Given the description of an element on the screen output the (x, y) to click on. 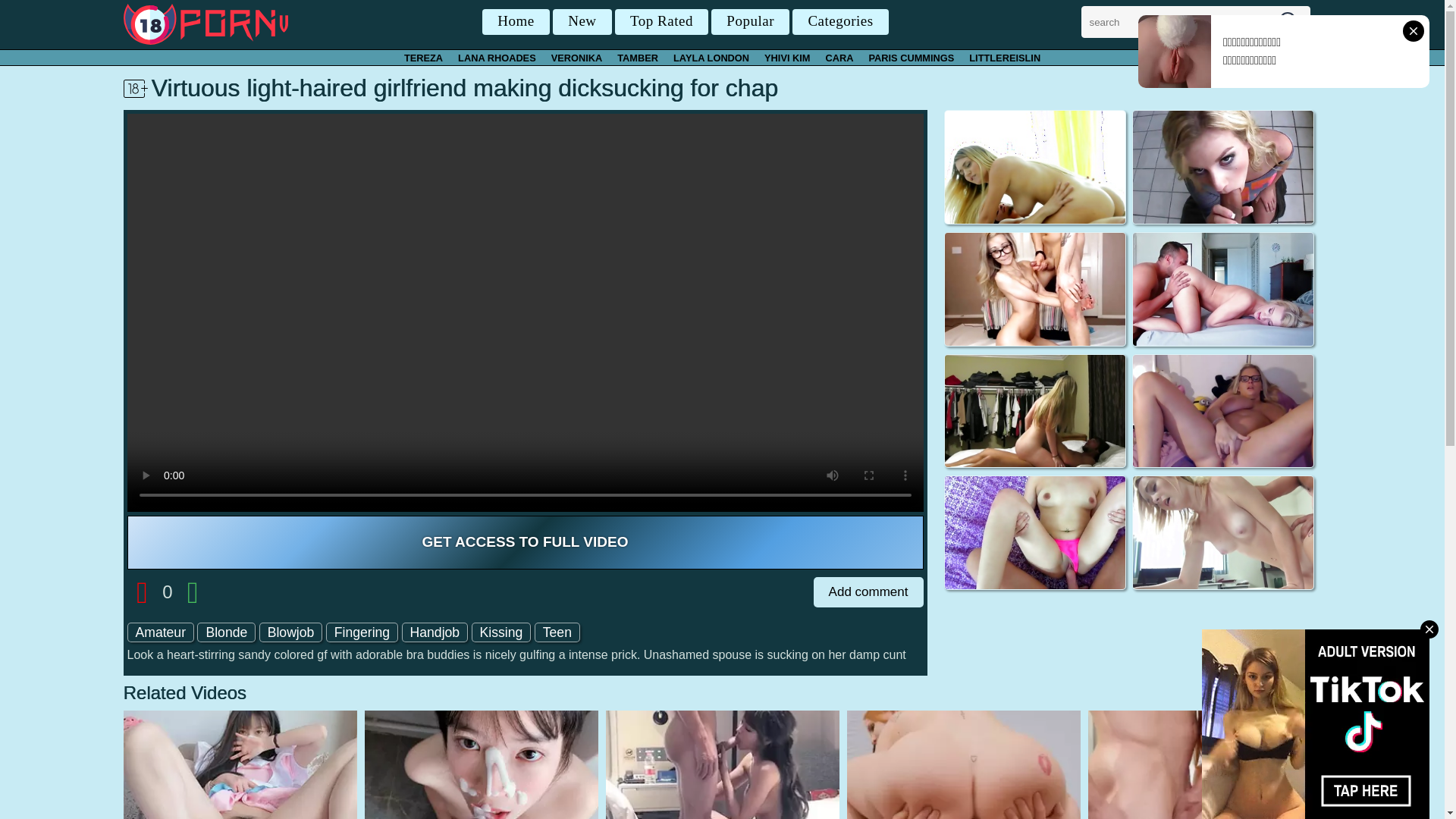
Home
New
Top Rated
Popular
Categories Element type: text (685, 21)
Dislike Element type: hover (142, 588)
Popular Element type: text (750, 21)
New Element type: text (581, 21)
LANA RHOADES Element type: text (496, 57)
Home Element type: text (515, 21)
Amateur Element type: text (160, 631)
Kissing Element type: text (501, 631)
Categories Element type: text (840, 21)
LAYLA LONDON Element type: text (710, 57)
Fingering Element type: text (362, 631)
CARA Element type: text (838, 57)
PARIS CUMMINGS Element type: text (910, 57)
GET ACCESS TO FULL VIDEO Element type: text (525, 542)
TEREZA Element type: text (423, 57)
Like Element type: hover (192, 588)
Search Element type: text (1290, 25)
VERONIKA Element type: text (576, 57)
Handjob Element type: text (434, 631)
Top Rated Element type: text (661, 21)
Blowjob Element type: text (291, 631)
TAMBER Element type: text (637, 57)
LITTLEREISLIN Element type: text (1004, 57)
Provoking blonde sucks a cock and rides in homemade porn Element type: hover (1034, 289)
Teen Element type: text (557, 631)
18pornv.com Element type: text (205, 22)
Blonde Element type: text (226, 631)
YHIVI KIM Element type: text (786, 57)
